Given the description of an element on the screen output the (x, y) to click on. 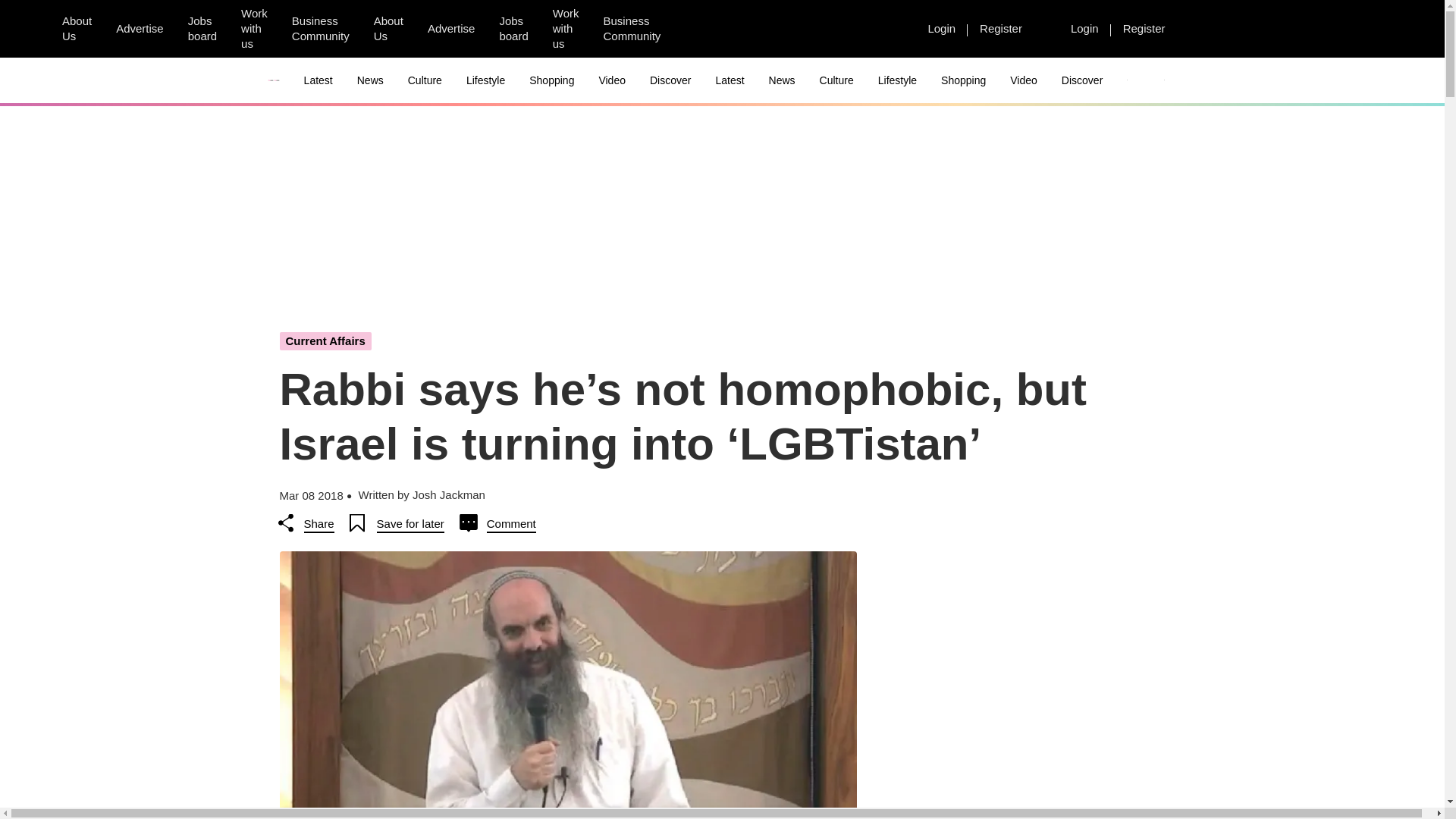
Business Community (631, 28)
Follow PinkNews on LinkedIn (775, 28)
Register (1000, 28)
Jobs board (202, 28)
Follow PinkNews on LinkedIn (885, 28)
Register (1143, 28)
Work with us (565, 28)
Work with us (253, 28)
News (370, 79)
Login (1084, 28)
Advertise (450, 28)
Login (941, 28)
Advertise (139, 28)
Latest (318, 79)
Jobs board (513, 28)
